Given the description of an element on the screen output the (x, y) to click on. 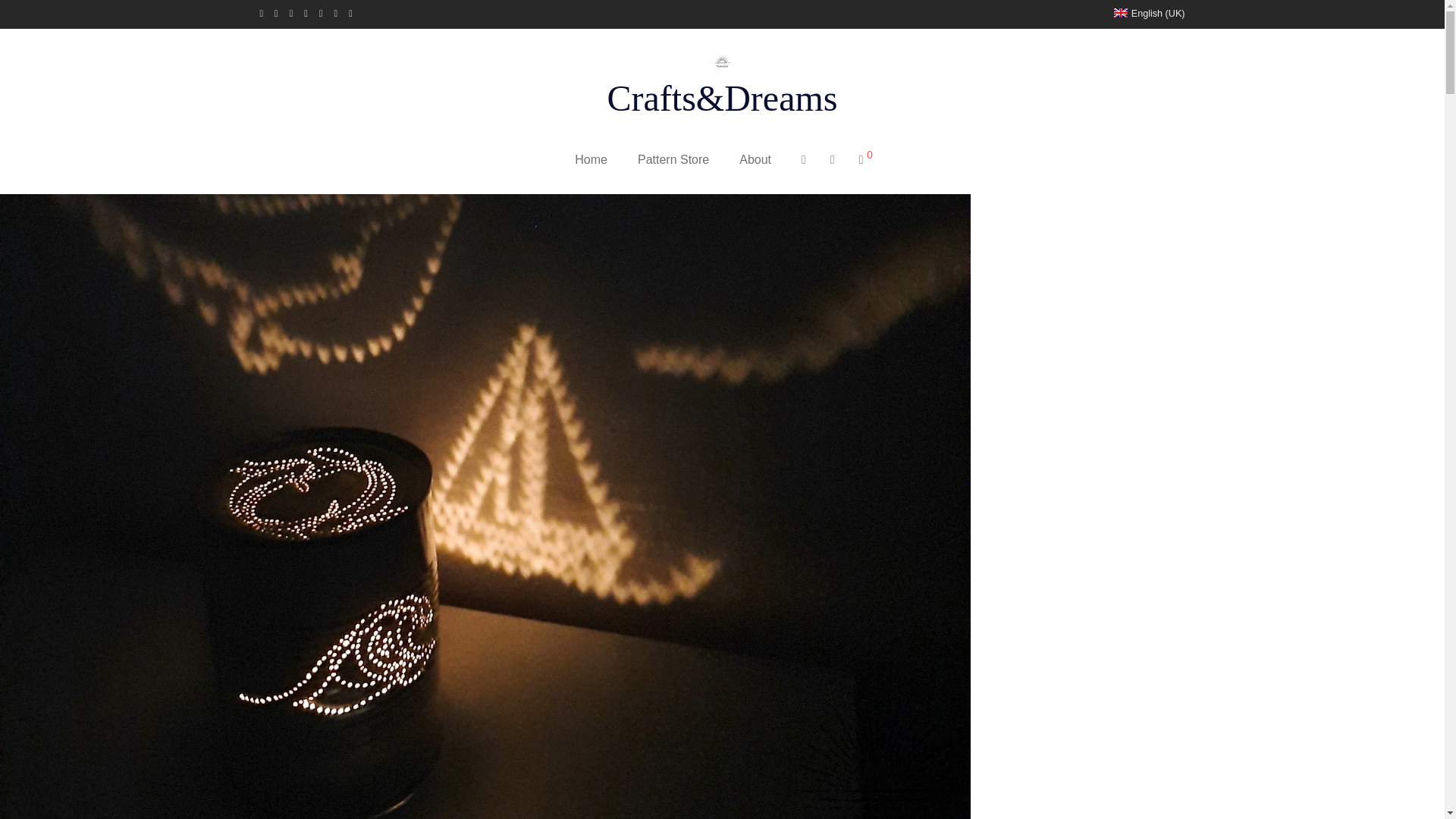
Home (591, 160)
Pattern Store (673, 160)
0 (866, 159)
About (754, 160)
